Given the description of an element on the screen output the (x, y) to click on. 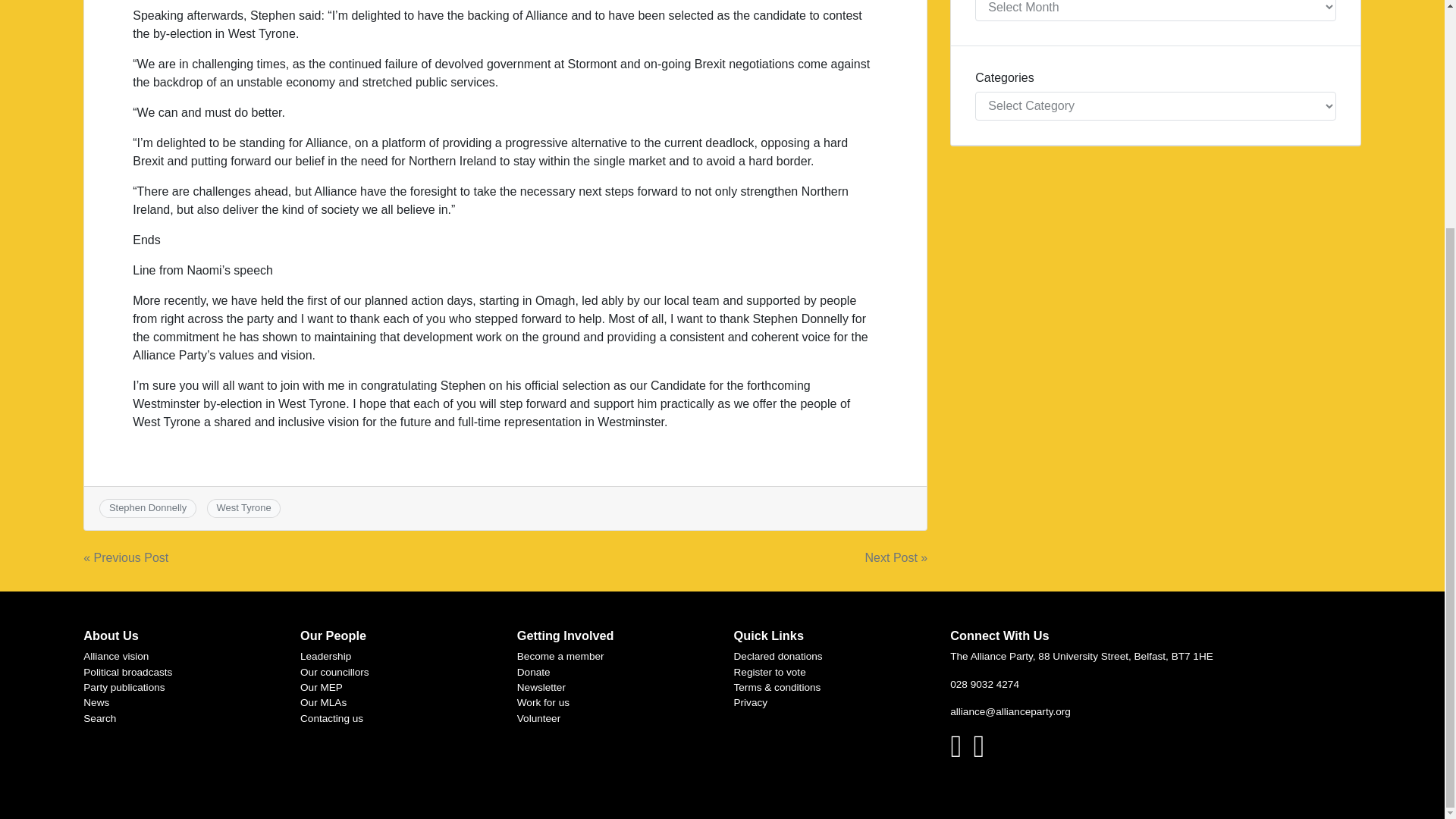
Our MLAs (322, 702)
Party publications (123, 686)
Work for us (542, 702)
Volunteer (538, 717)
Contacting us (330, 717)
Search (99, 717)
Our councillors (334, 672)
Privacy (750, 702)
Become a member (560, 655)
Leadership (324, 655)
Alliance vision (115, 655)
Donate (533, 672)
Stephen Donnelly (147, 507)
Register to vote (769, 672)
028 9032 4274 (984, 684)
